Given the description of an element on the screen output the (x, y) to click on. 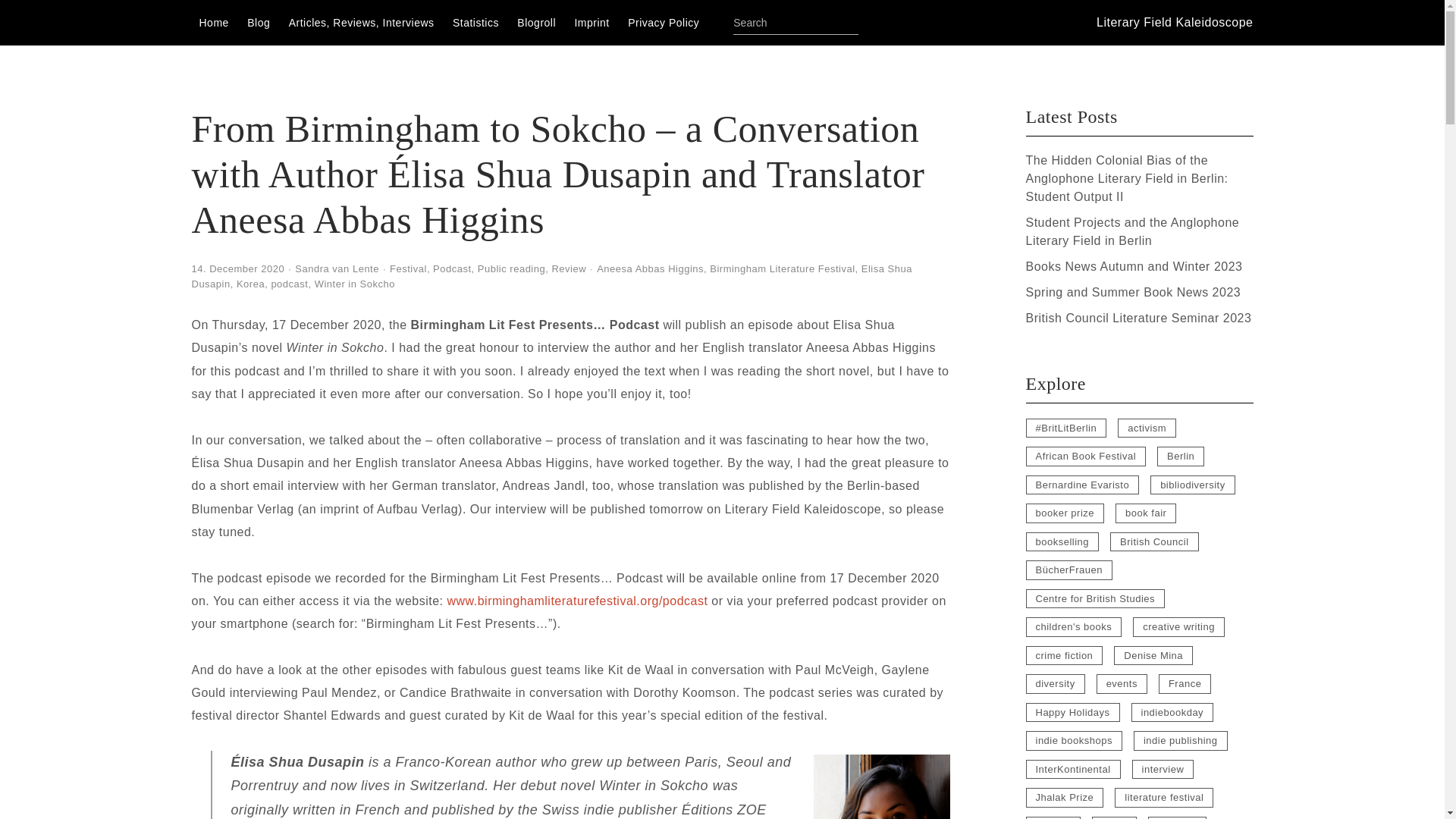
Imprint (590, 22)
Blogroll (536, 22)
Aneesa Abbas Higgins (649, 268)
Festival (408, 268)
Literary Field Kaleidoscope (1174, 21)
Sandra van Lente (336, 268)
Literary Field Kaleidoscope (1174, 21)
Review (568, 268)
podcast (288, 283)
